Given the description of an element on the screen output the (x, y) to click on. 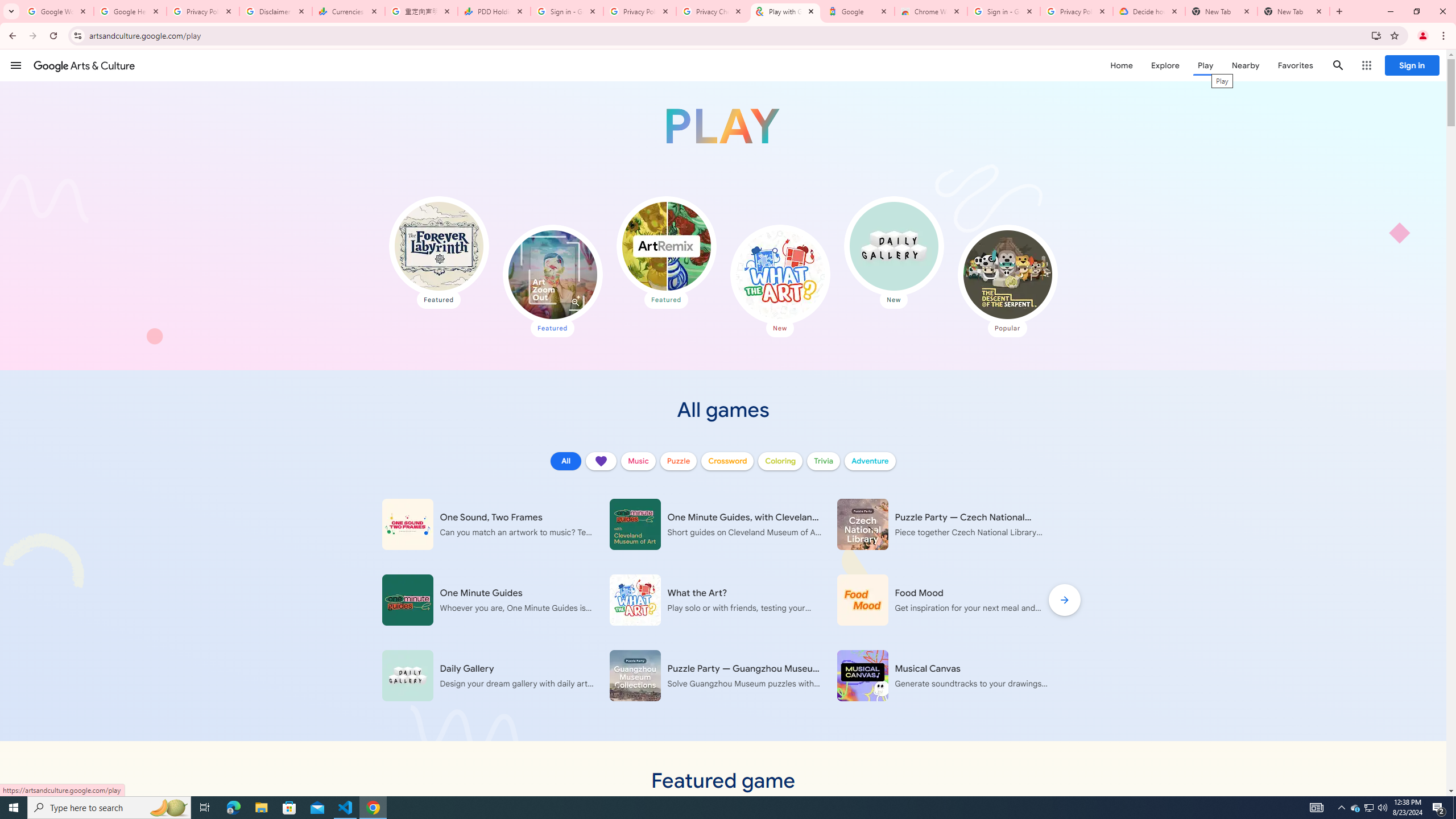
Currencies - Google Finance (348, 11)
Art Remix (665, 246)
The Forever Labyrinth (438, 246)
Home (1120, 65)
PDD Holdings Inc - ADR (PDD) Price & News - Google Finance (493, 11)
New Tab (1293, 11)
Google (857, 11)
Explore (1164, 65)
